Given the description of an element on the screen output the (x, y) to click on. 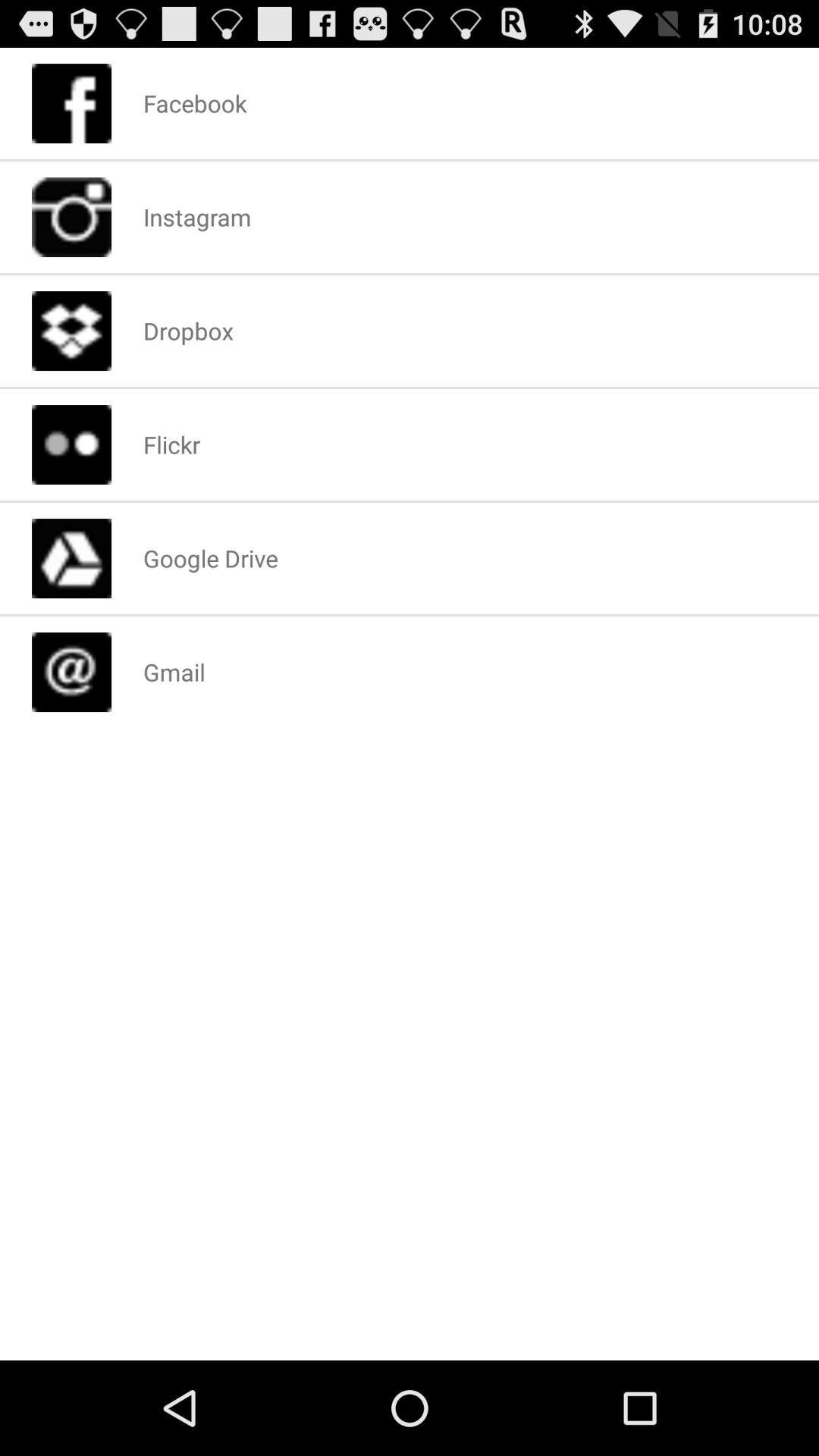
scroll until the gmail (174, 671)
